Given the description of an element on the screen output the (x, y) to click on. 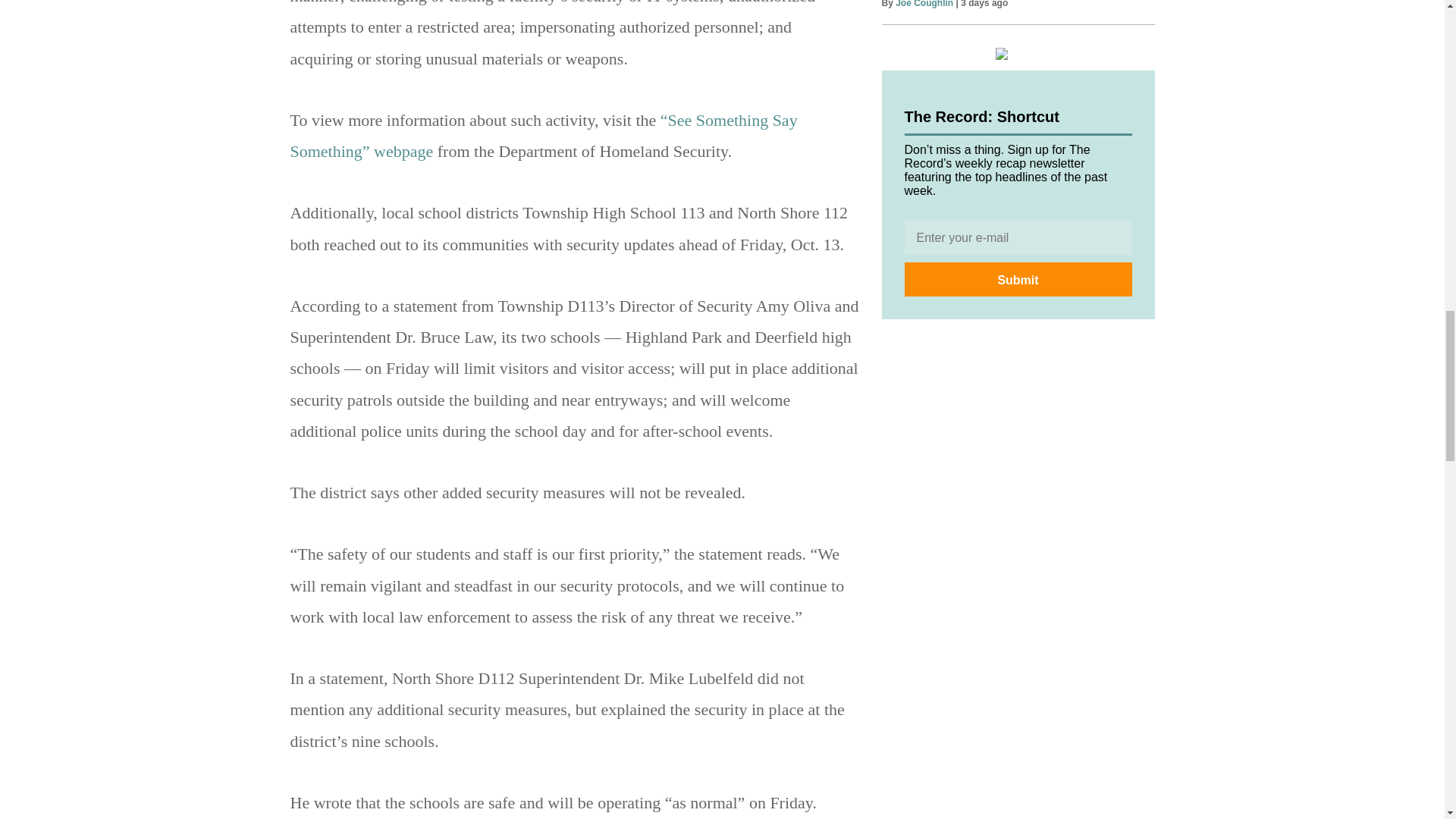
Submit (1017, 279)
